Given the description of an element on the screen output the (x, y) to click on. 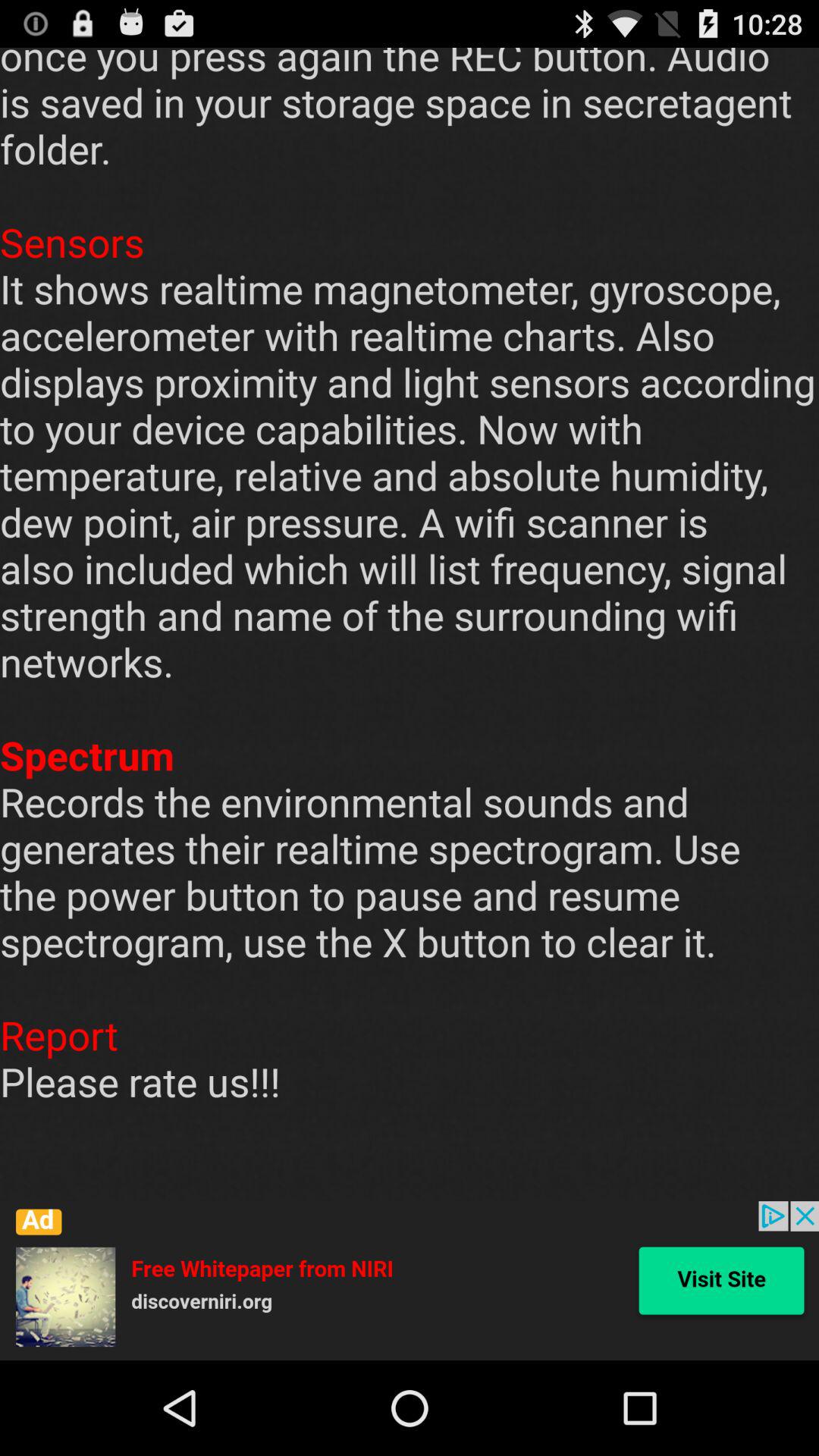
advertisement (409, 1280)
